Given the description of an element on the screen output the (x, y) to click on. 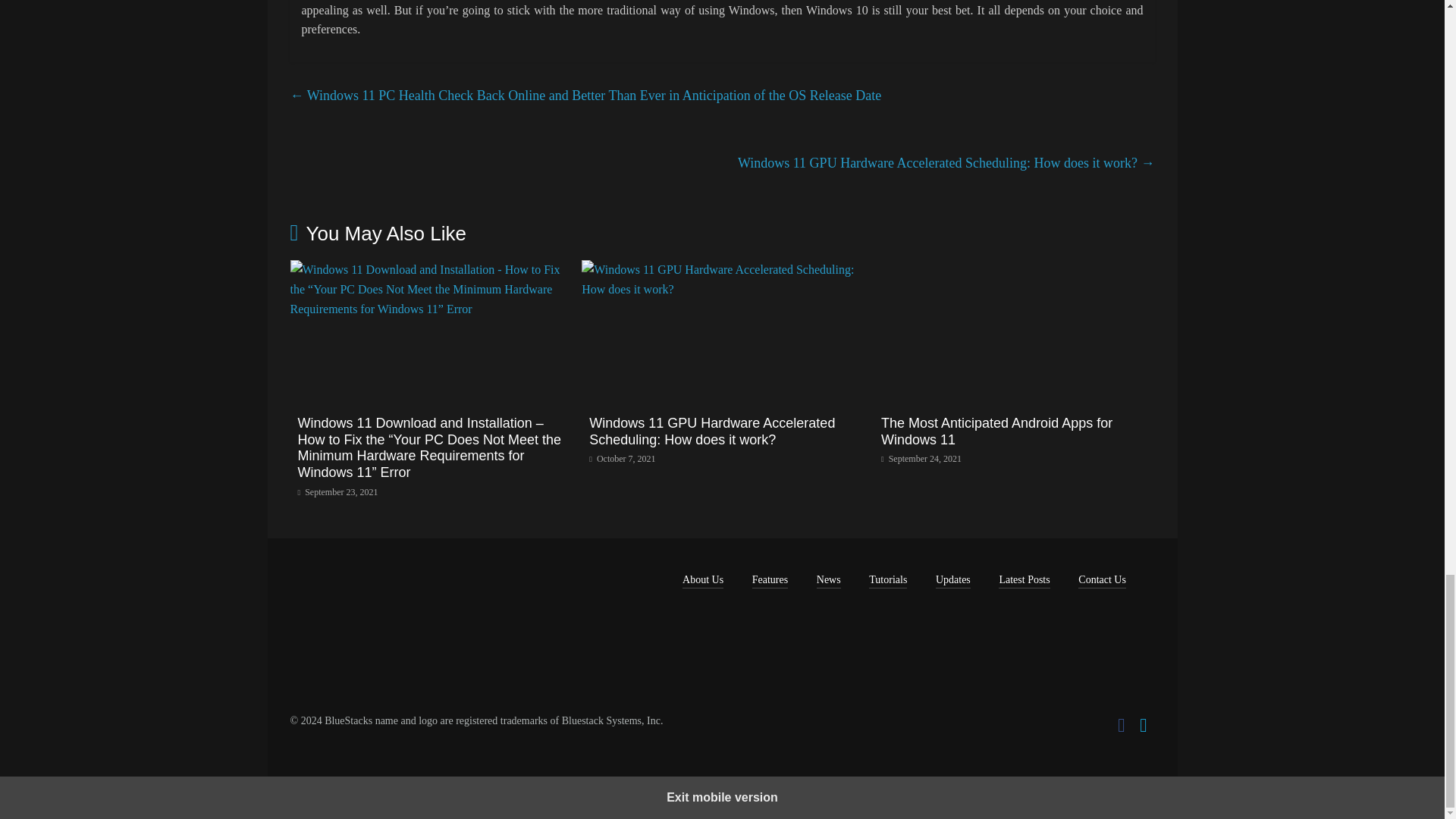
The Most Anticipated Android Apps for Windows 11 (996, 431)
7:41 am (337, 491)
October 7, 2021 (622, 458)
September 23, 2021 (337, 491)
The Most Anticipated Android Apps for Windows 11 (1013, 269)
9:41 am (622, 458)
The Most Anticipated Android Apps for Windows 11 (996, 431)
